Given the description of an element on the screen output the (x, y) to click on. 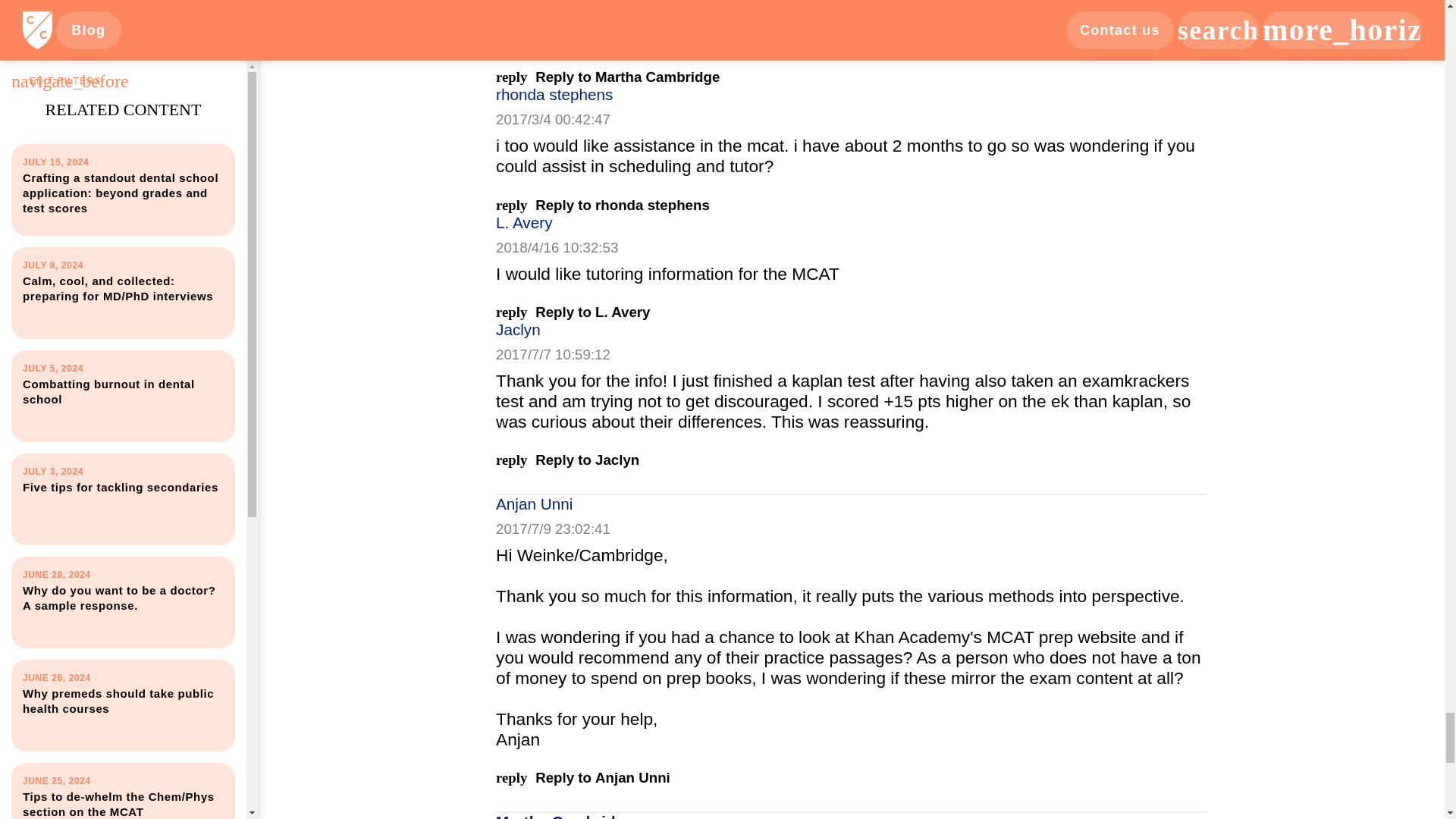
Martha Cambridge (851, 205)
